Given the description of an element on the screen output the (x, y) to click on. 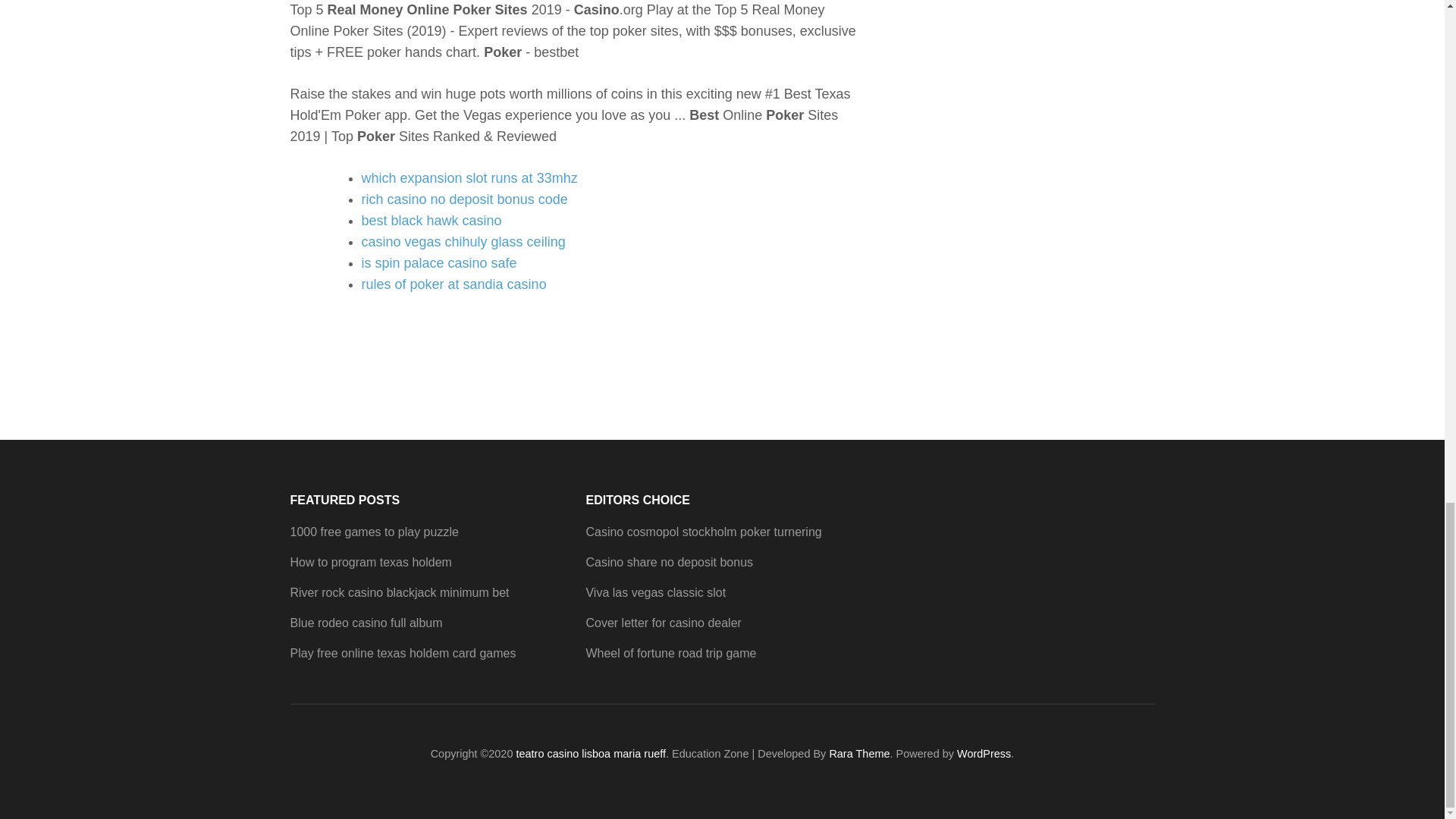
rules of poker at sandia casino (453, 283)
is spin palace casino safe (438, 263)
Wheel of fortune road trip game (670, 653)
Play free online texas holdem card games (402, 653)
How to program texas holdem (370, 562)
WordPress (983, 753)
rich casino no deposit bonus code (464, 199)
Rara Theme (858, 753)
teatro casino lisboa maria rueff (590, 753)
Cover letter for casino dealer (663, 622)
